Given the description of an element on the screen output the (x, y) to click on. 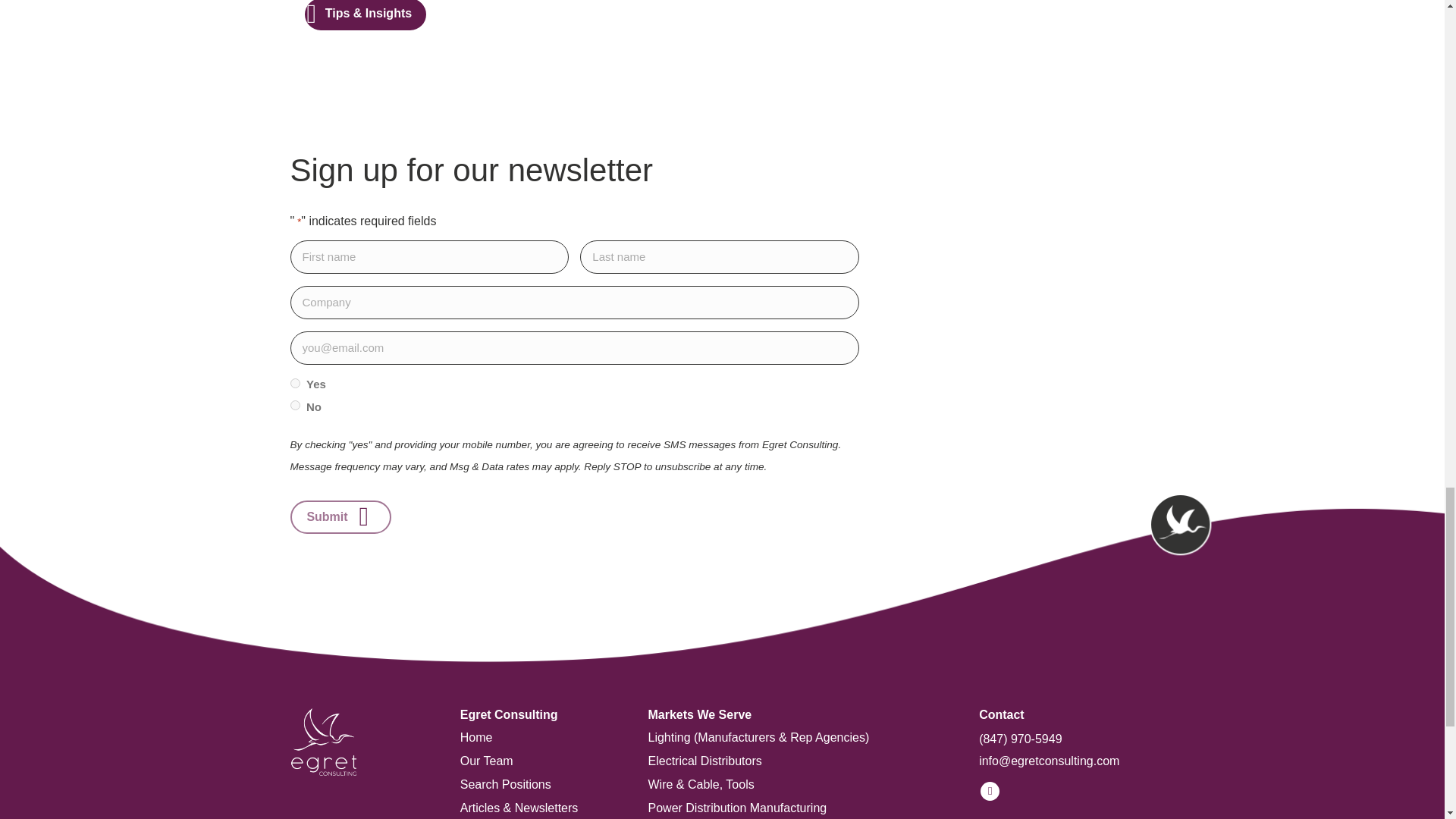
Submit (339, 516)
Egret Logo - White thick (322, 741)
Home (538, 732)
Search Positions (538, 779)
Submit (339, 516)
Our Team (538, 755)
Electrical Distributors (798, 755)
No (294, 405)
Giving Back (538, 816)
Yes (294, 383)
Power Distribution Manufacturing (798, 802)
Automation Technologies (798, 816)
